Given the description of an element on the screen output the (x, y) to click on. 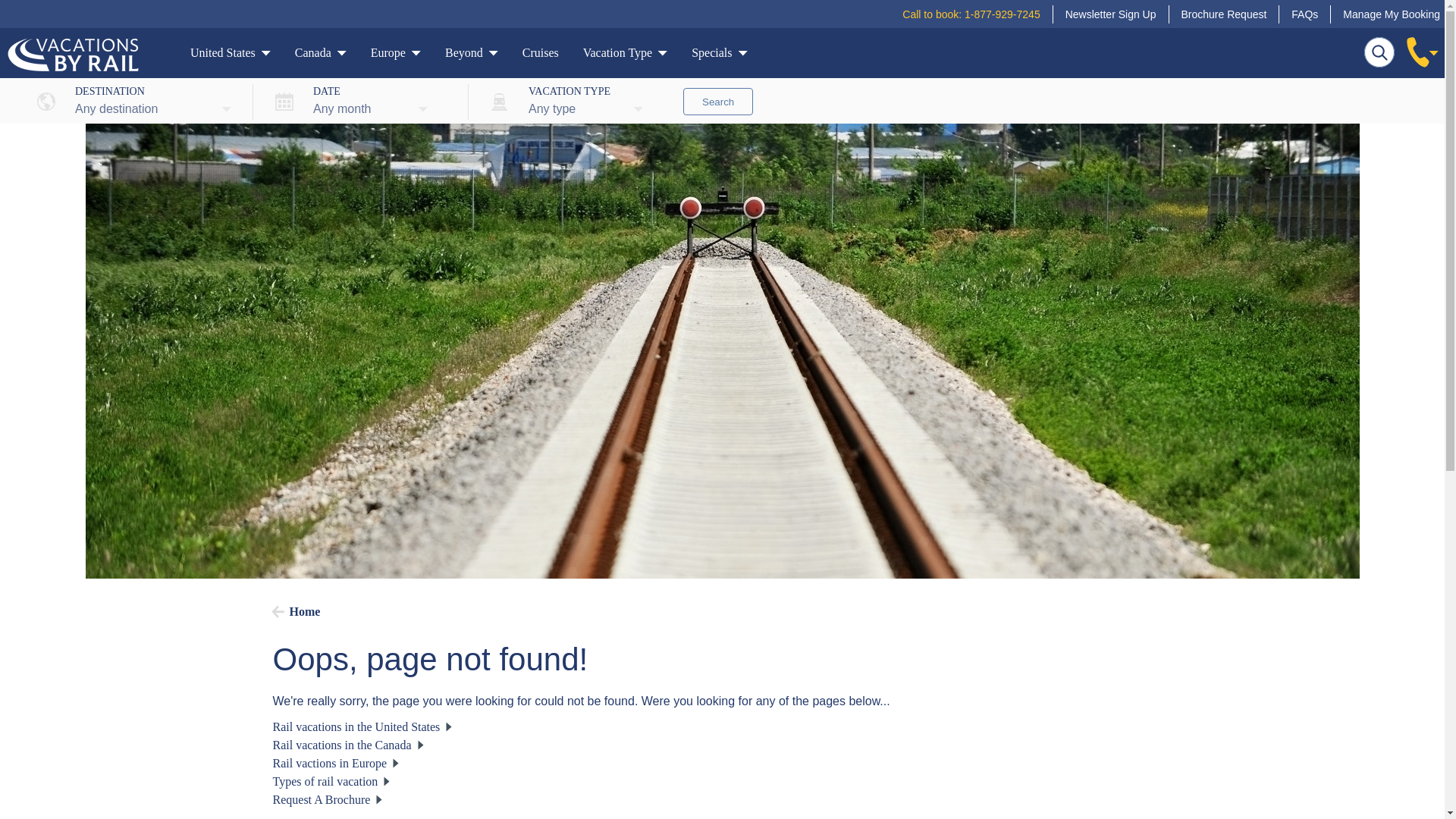
Vacation Type (624, 55)
FAQs (1304, 14)
Search (717, 101)
Home (295, 611)
Rail vacations in the United States (362, 726)
Types of rail vacation (331, 780)
Canada (320, 55)
Beyond (471, 55)
Europe (395, 55)
Rail vactions in Europe (335, 762)
Specials (718, 55)
United States (362, 726)
United States (230, 55)
Brochure Request (1223, 14)
Request A Brochure (327, 799)
